Given the description of an element on the screen output the (x, y) to click on. 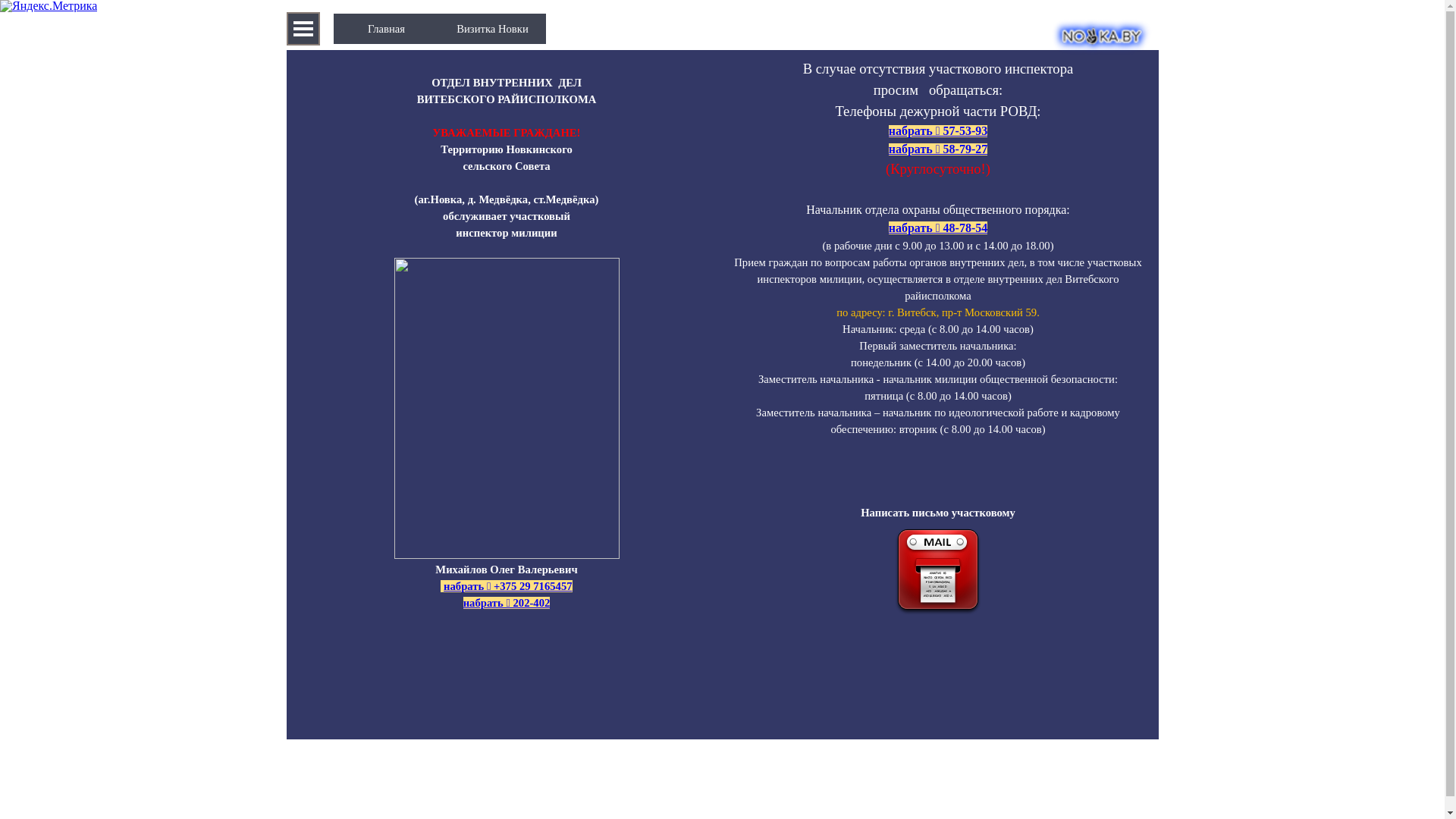
29 7165457 Element type: text (545, 586)
